Given the description of an element on the screen output the (x, y) to click on. 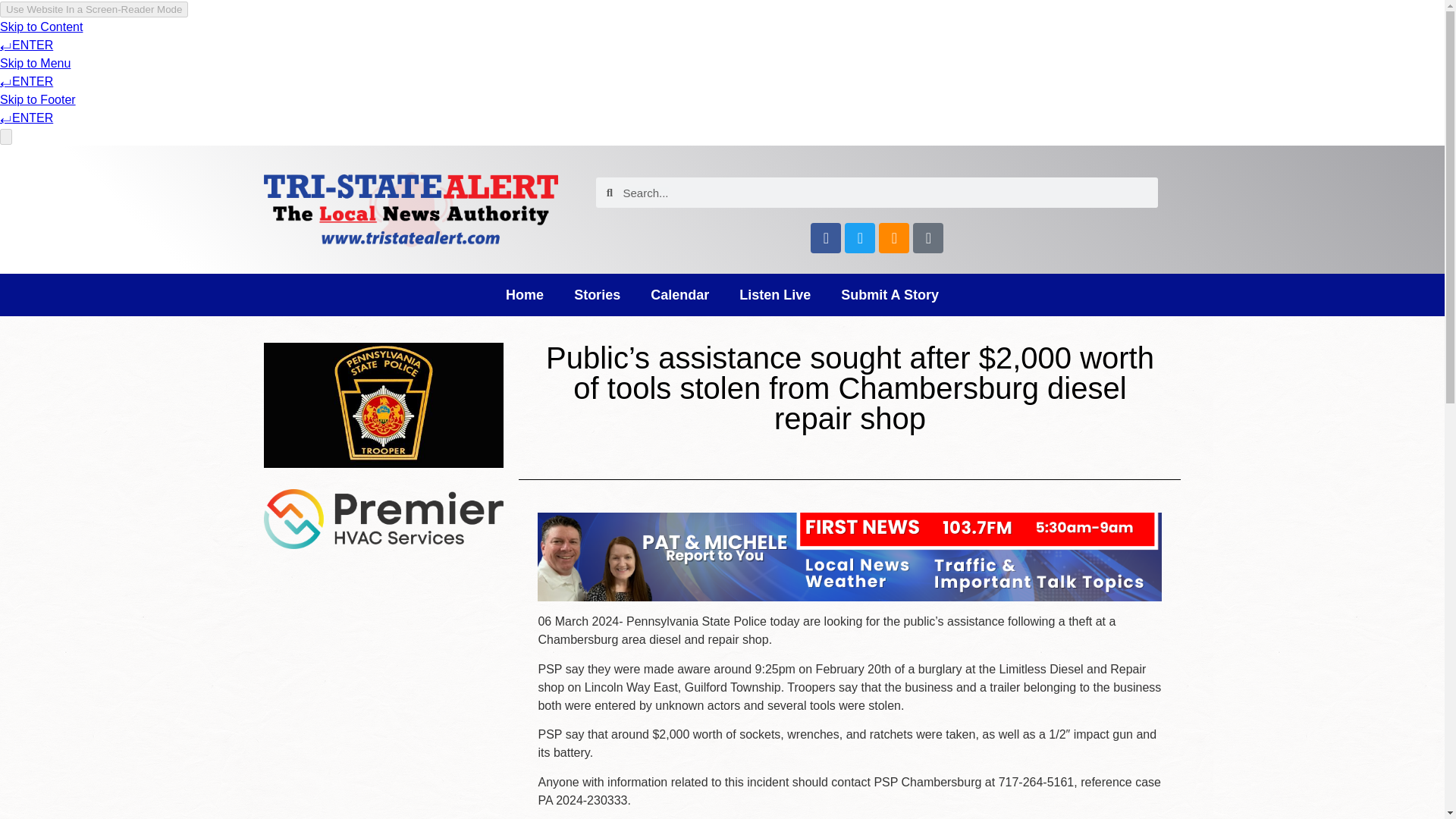
Stories (596, 294)
Calendar (678, 294)
Submit A Story (889, 294)
Listen Live (774, 294)
Home (524, 294)
